Given the description of an element on the screen output the (x, y) to click on. 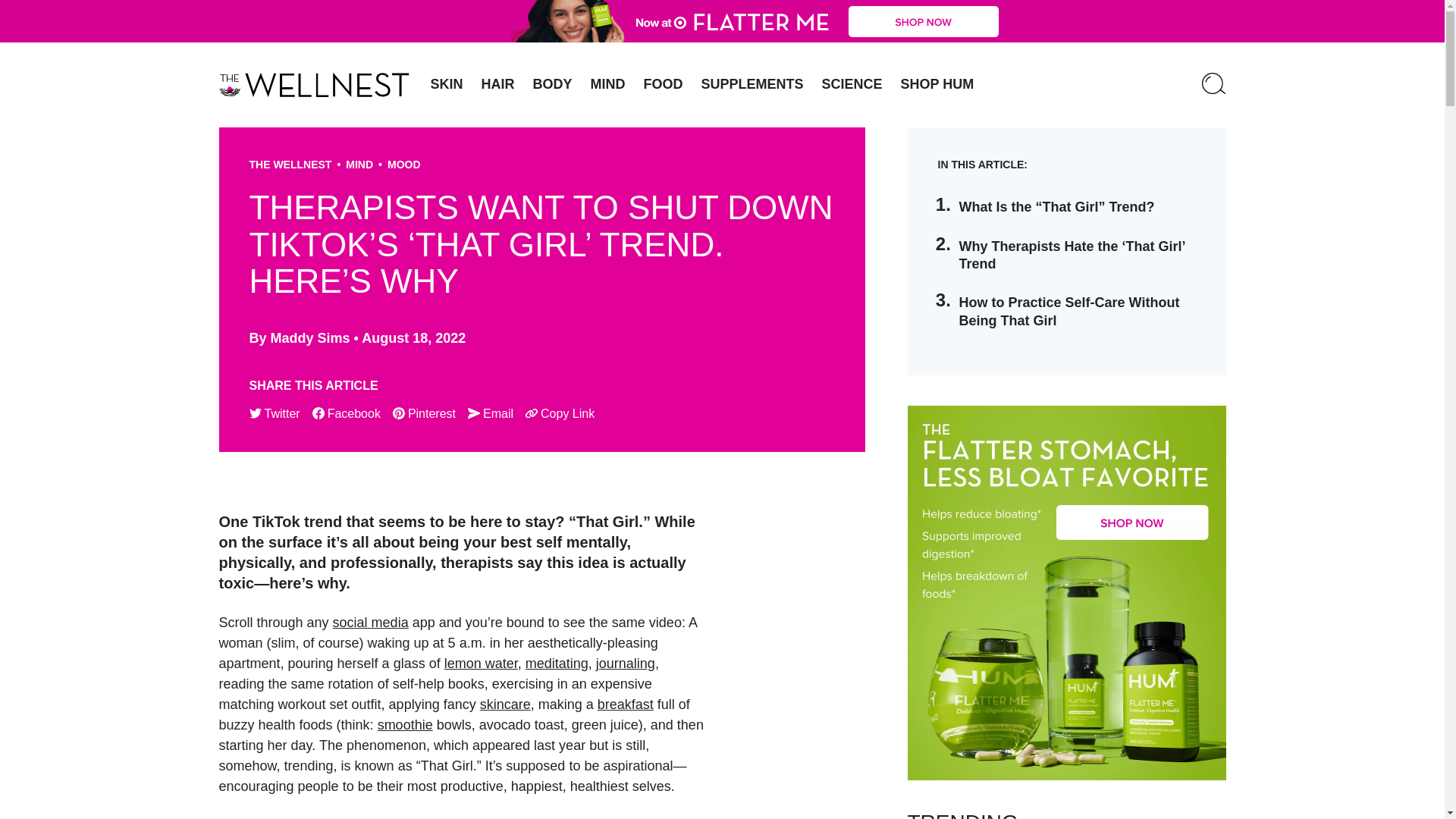
Maddy Sims (310, 337)
Search (1213, 84)
HUM Nutrition Blog (721, 21)
MIND (359, 164)
MIND (607, 84)
SHOP HUM (937, 84)
HUM Nutrition Blog (313, 84)
Twitter (273, 414)
MOOD (403, 164)
SCIENCE (851, 84)
